Given the description of an element on the screen output the (x, y) to click on. 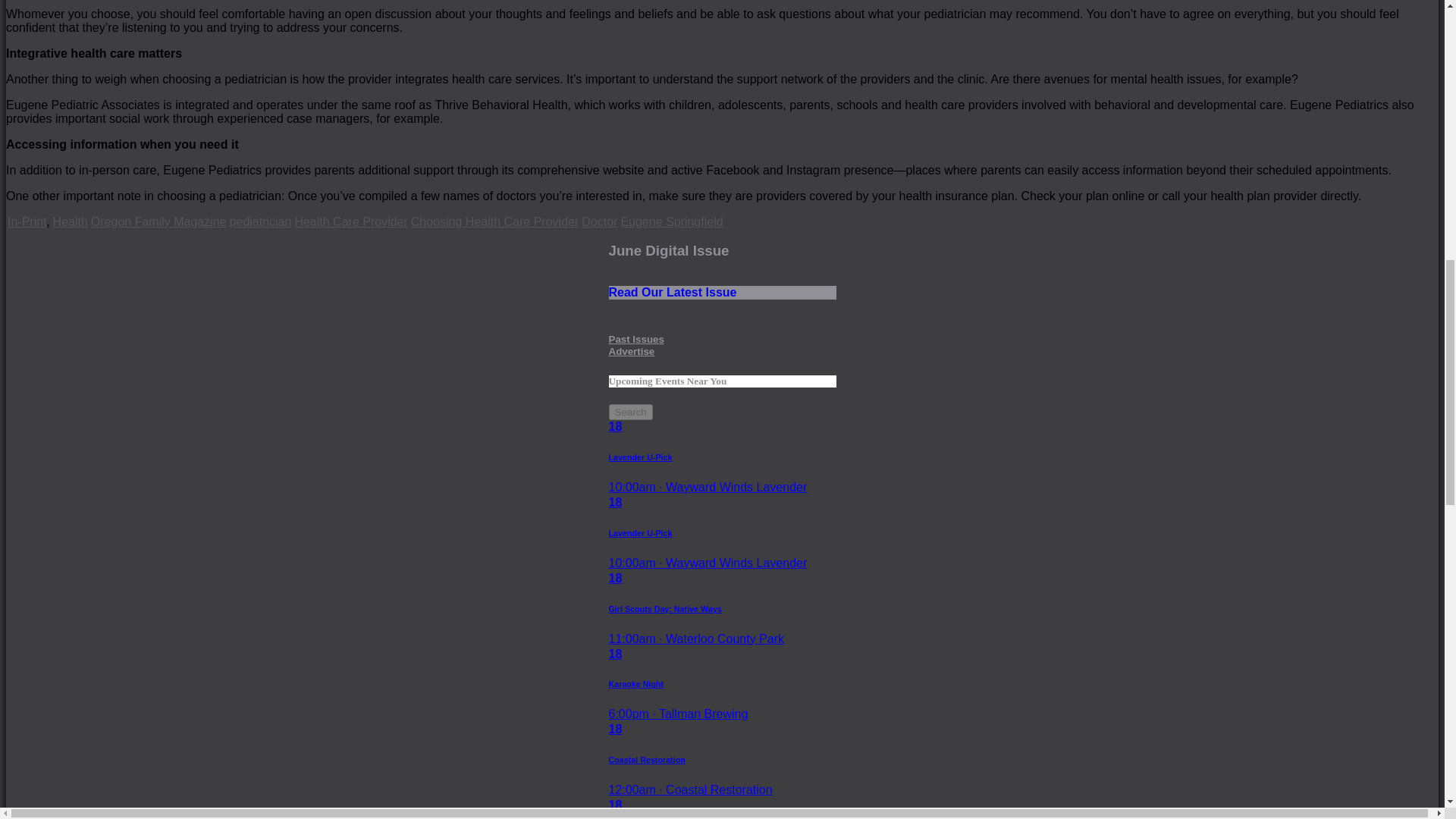
Health Care Provider (350, 221)
In-Print (26, 221)
Health (69, 221)
pediatrician (261, 221)
Past Issues (635, 338)
Eugene Springfield (671, 221)
Doctor (598, 221)
Search (630, 412)
Choosing Health Care Provider (494, 221)
Oregon Family Magazine (158, 221)
Advertise (721, 270)
